Given the description of an element on the screen output the (x, y) to click on. 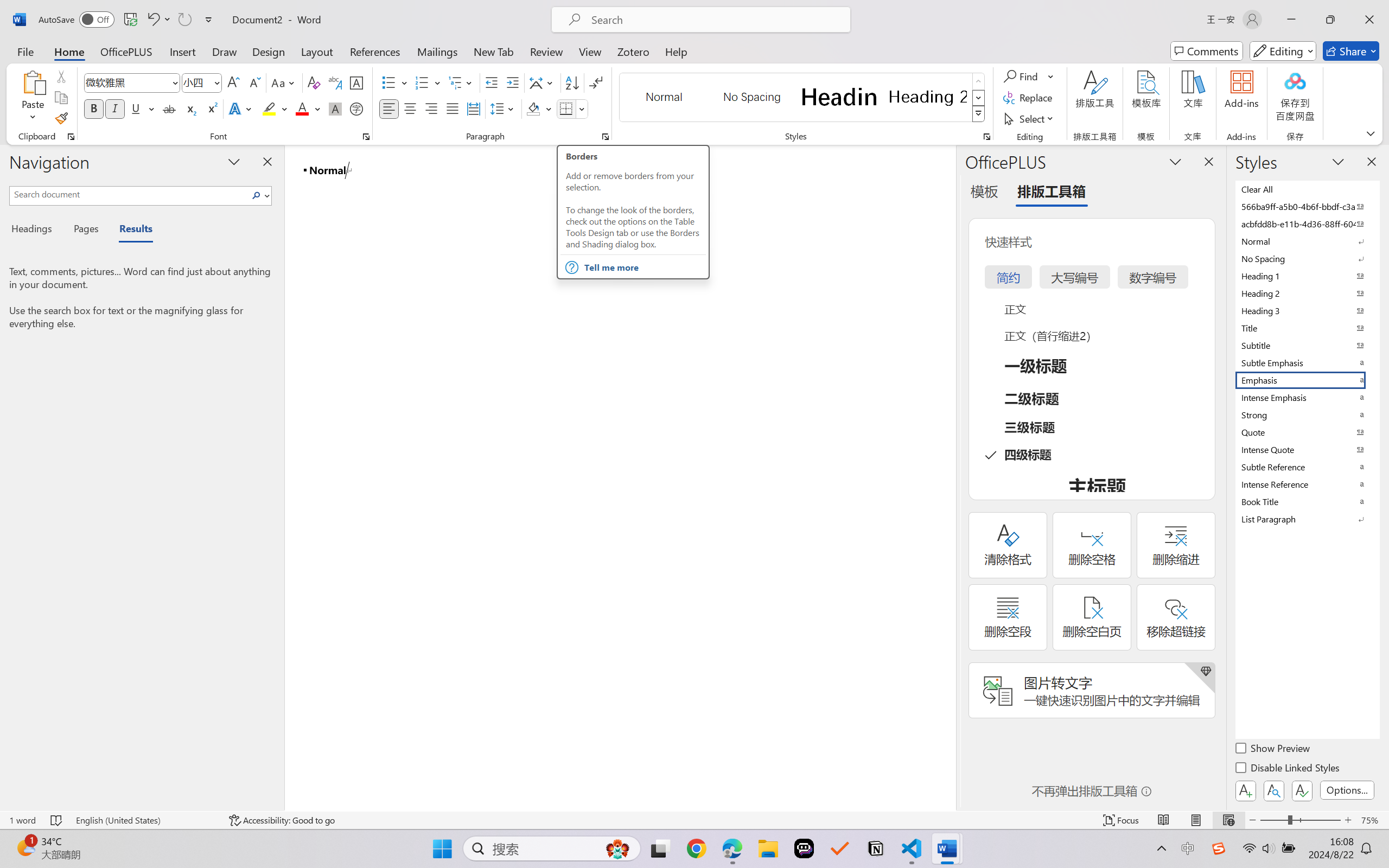
Search (256, 195)
Language English (United States) (144, 819)
Find (1029, 75)
Pages (85, 229)
Phonetic Guide... (334, 82)
Asian Layout (542, 82)
Paste (33, 81)
Line and Paragraph Spacing (503, 108)
Numbering (421, 82)
Subtle Reference (1306, 466)
References (375, 51)
Search document (128, 193)
Font Size (201, 82)
Enclose Characters... (356, 108)
